Given the description of an element on the screen output the (x, y) to click on. 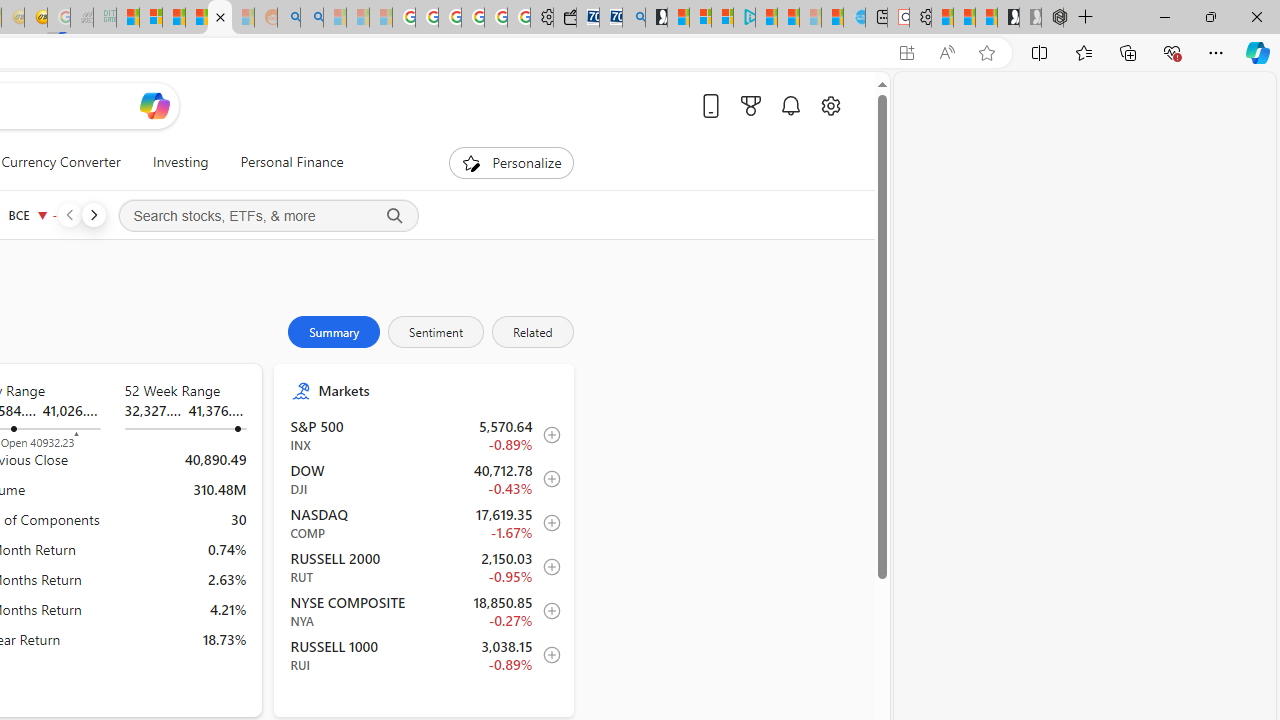
Sentiment (435, 331)
Previous (69, 214)
Next (93, 214)
Add to Watchlist (546, 655)
